Given the description of an element on the screen output the (x, y) to click on. 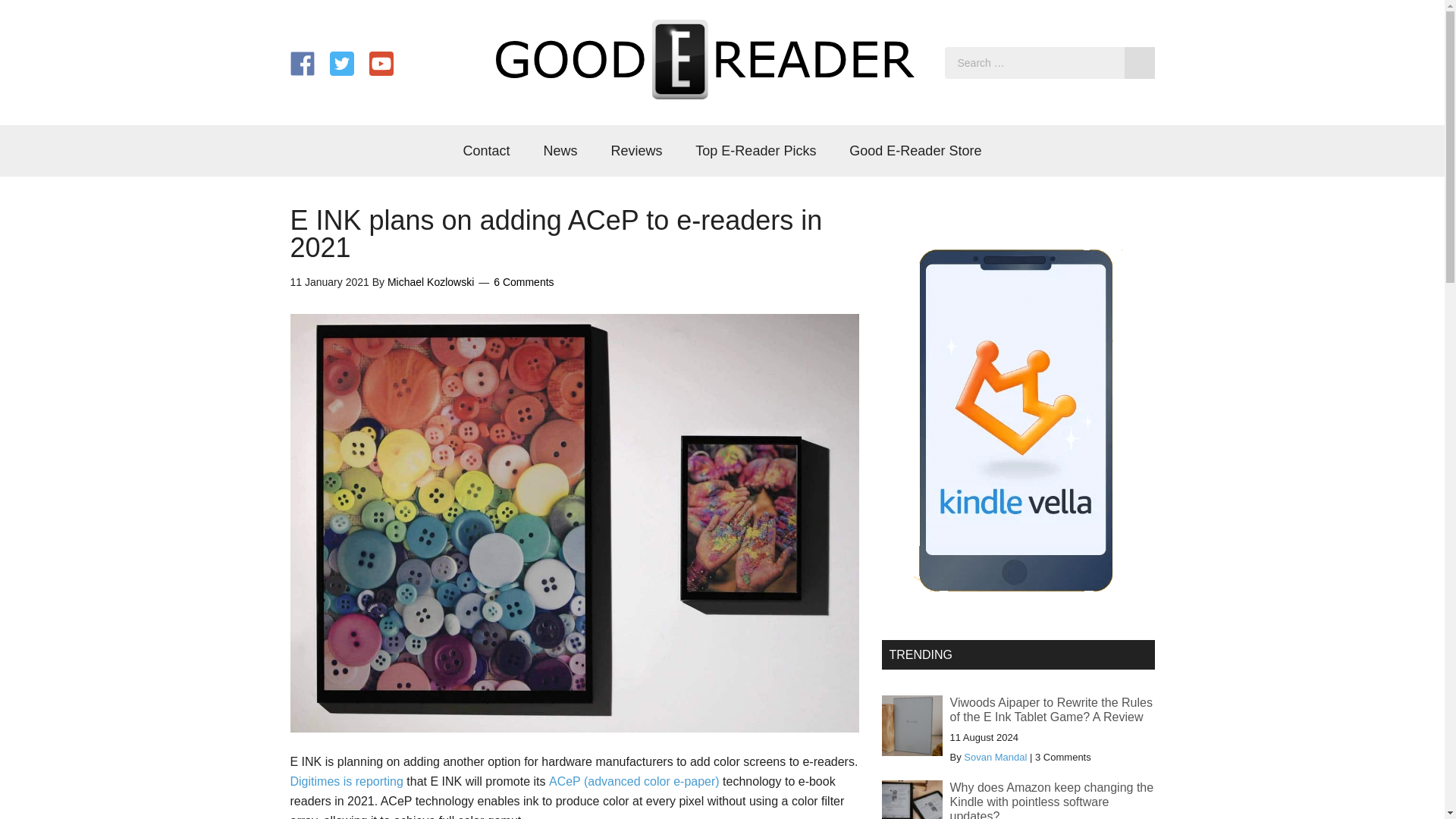
Contact (486, 150)
Michael Kozlowski (430, 282)
News (560, 150)
Follow Us on Facebook (301, 63)
Search for: (1049, 62)
Top E-Reader Picks (755, 150)
6 Comments (523, 282)
Follow Us on Twitter (341, 63)
Reviews (636, 150)
Goodereaderlogoblack Good Ereader (705, 59)
